Given the description of an element on the screen output the (x, y) to click on. 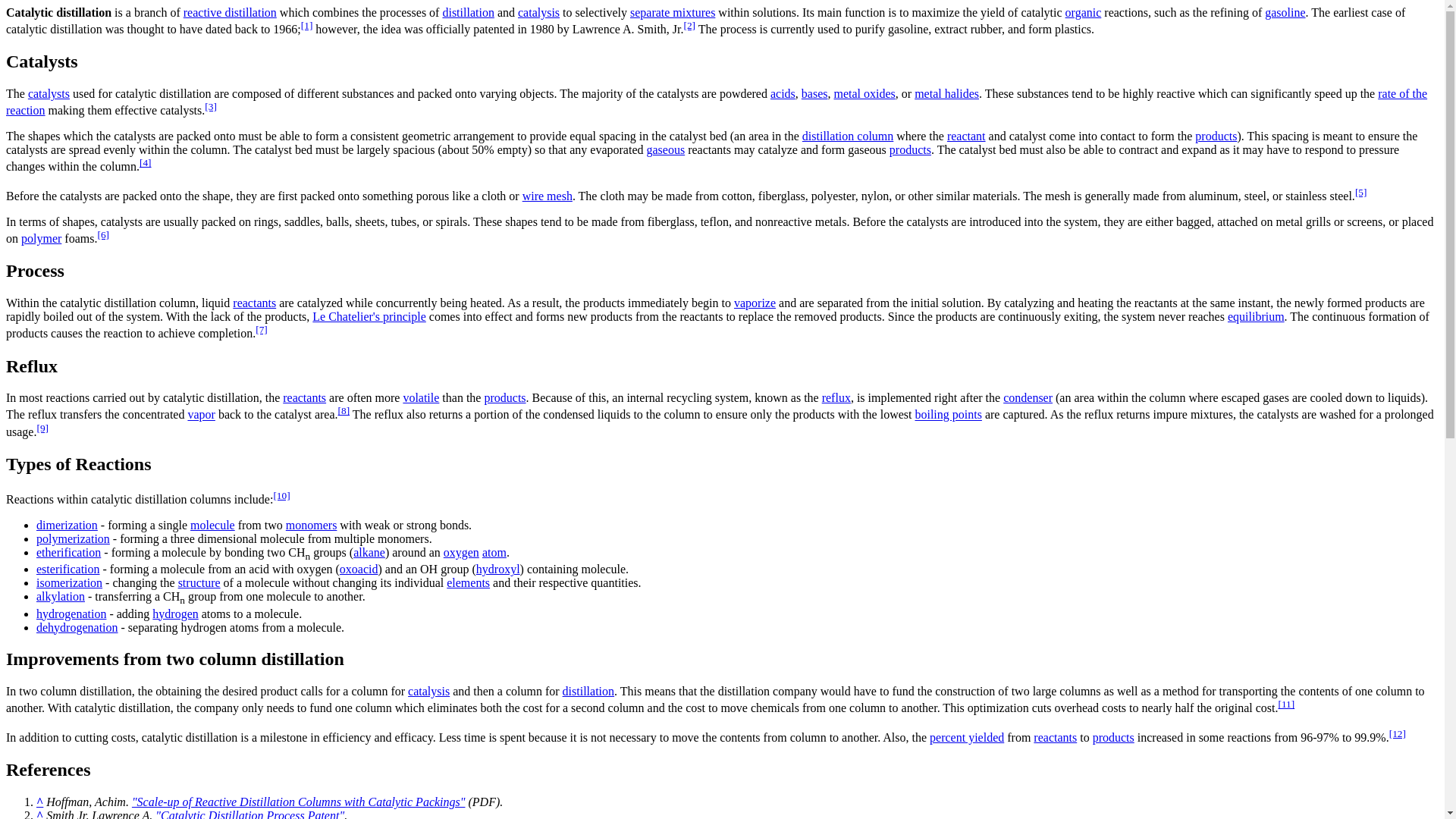
Fractionating column (847, 135)
condenser (1027, 397)
Mesh (547, 195)
Acid (782, 92)
catalysts (48, 92)
volatile (421, 397)
catalysis (538, 11)
reactant (966, 135)
products (910, 149)
distillation column (847, 135)
equilibrium (1255, 316)
vaporize (754, 302)
Gasoline (1284, 11)
gaseous (665, 149)
products (1215, 135)
